Given the description of an element on the screen output the (x, y) to click on. 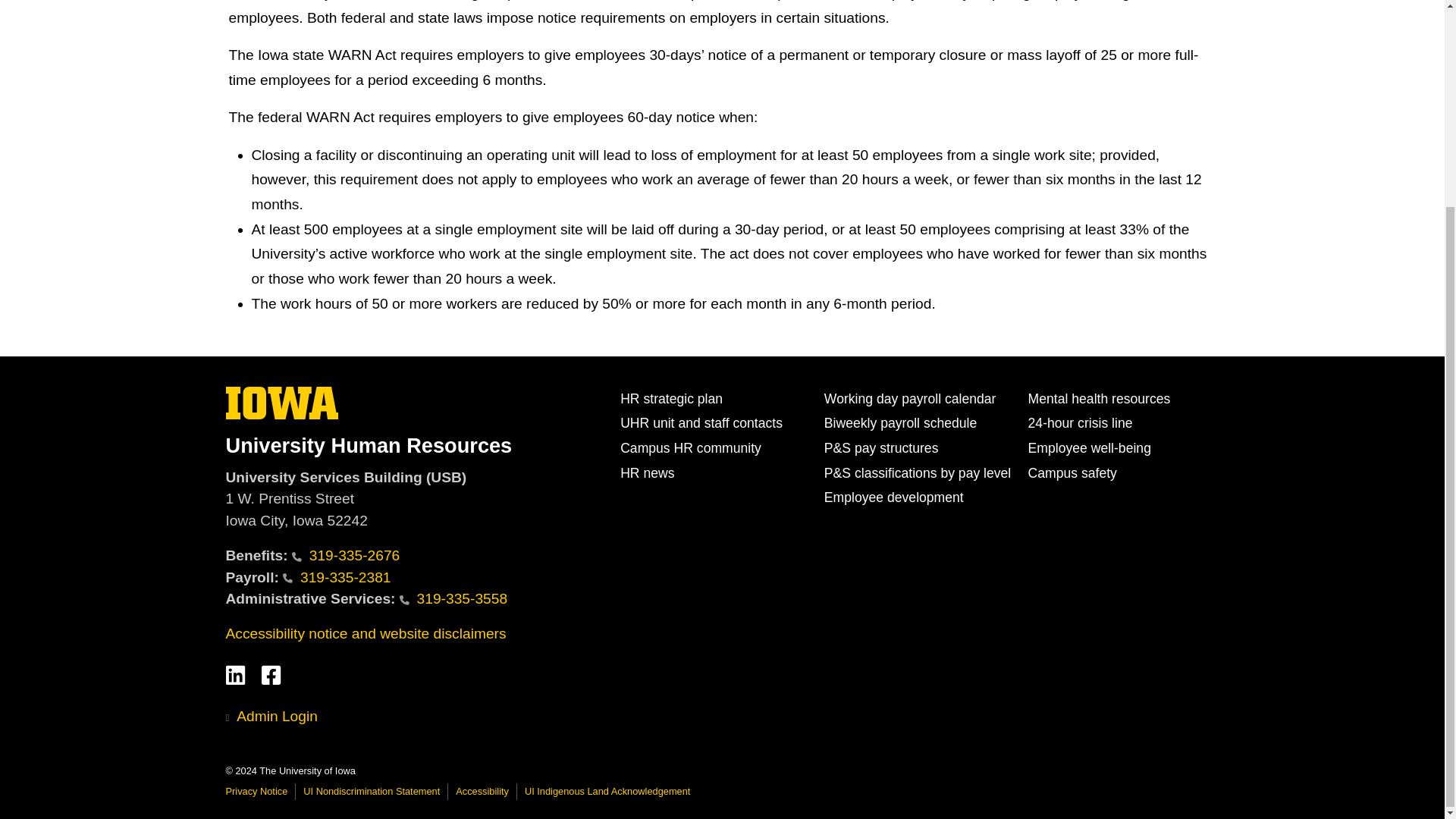
Accessibility Notice and Website Disclaimers (365, 633)
University human resources news (647, 473)
University of Iowa (282, 402)
